Given the description of an element on the screen output the (x, y) to click on. 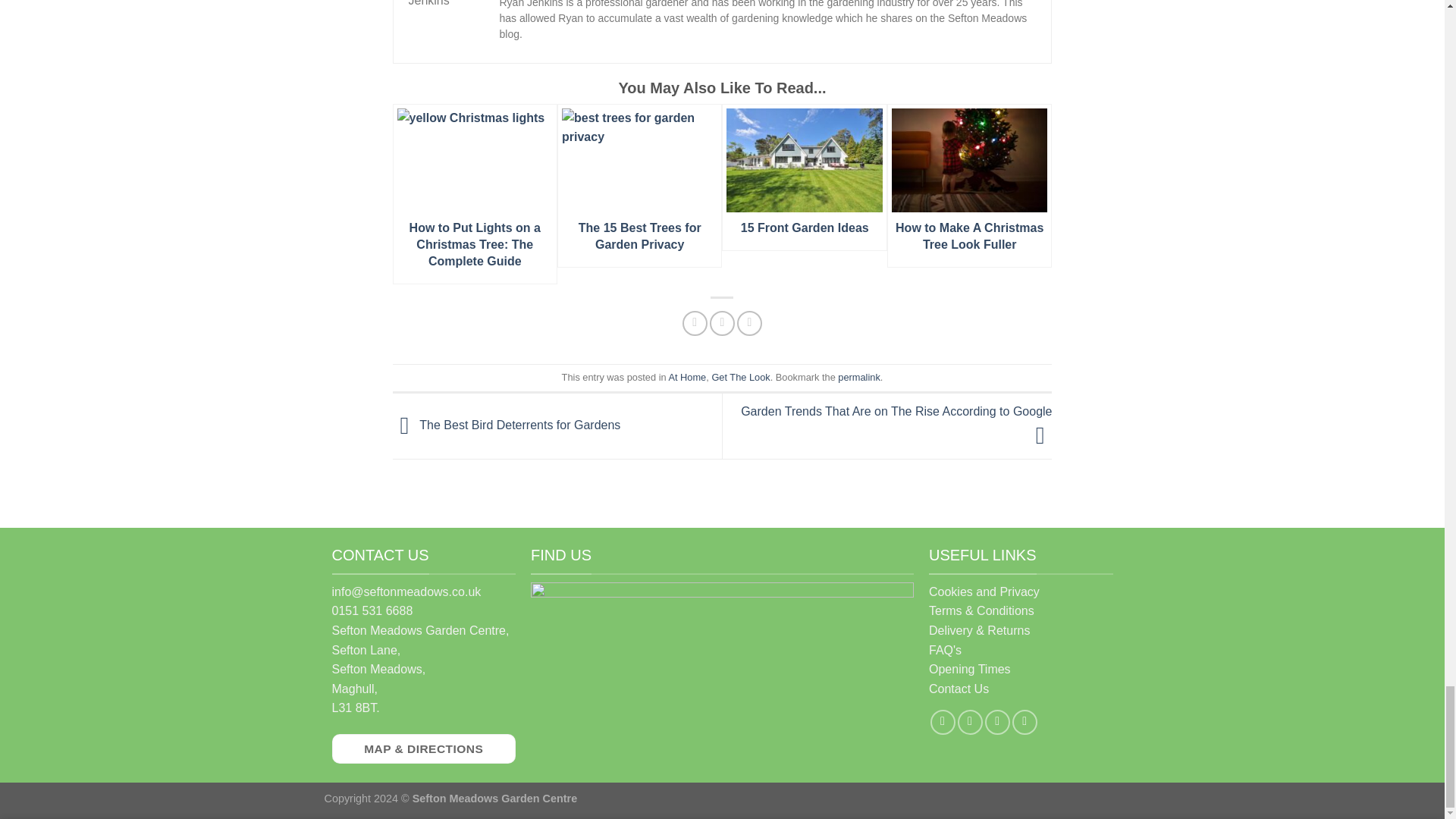
How to Make A Christmas Tree Look Fuller (968, 185)
How to Put Lights on a Christmas Tree: The Complete Guide (475, 194)
Get The Look (740, 377)
Share on Facebook (694, 323)
Follow on Twitter (997, 722)
15 Front Garden Ideas (804, 177)
Garden Trends That Are on The Rise According to Google (896, 422)
Email to a Friend (748, 323)
Share on Twitter (722, 323)
At Home (687, 377)
